Given the description of an element on the screen output the (x, y) to click on. 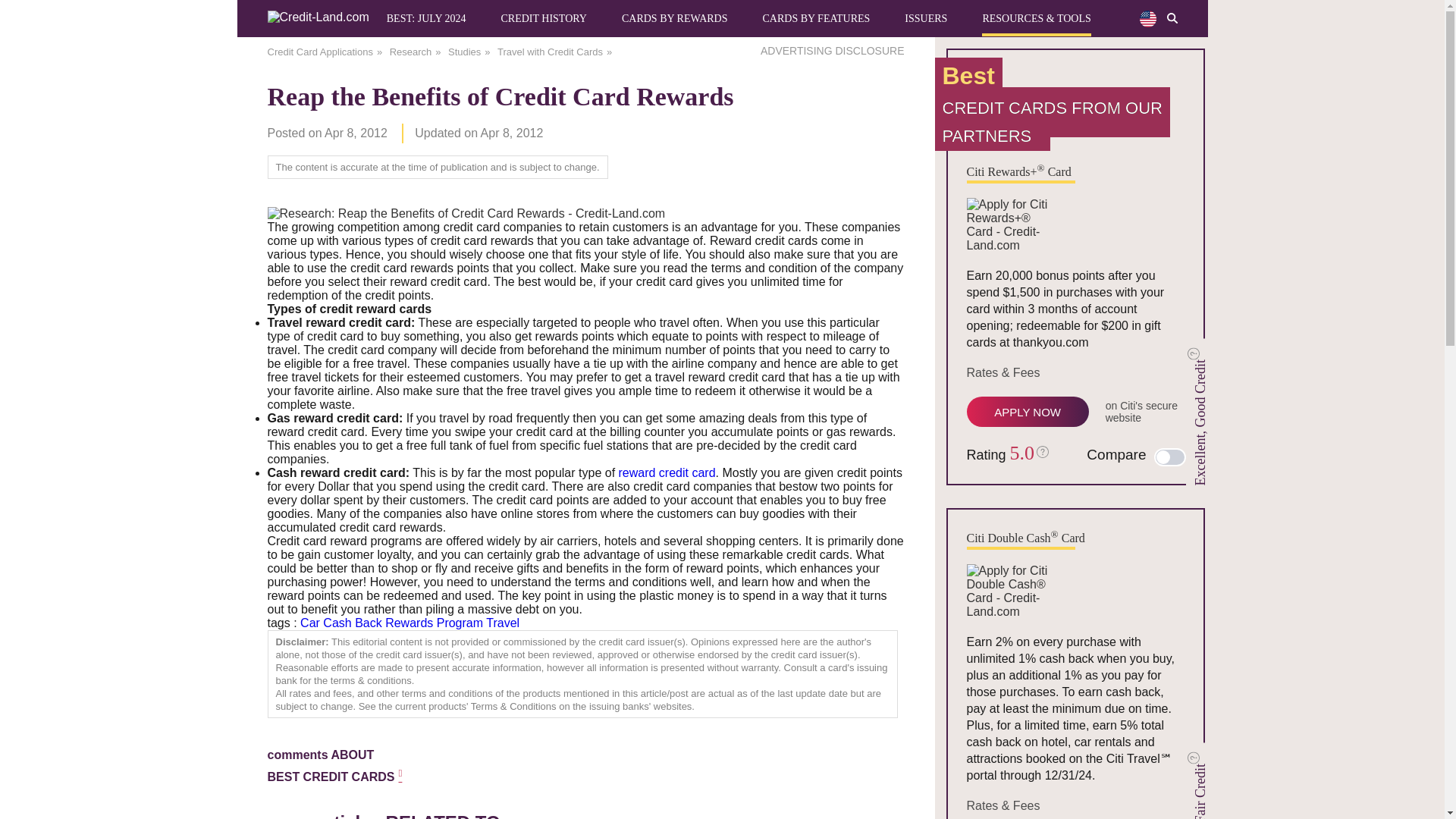
CREDIT HISTORY (543, 18)
CARDS BY REWARDS (674, 18)
CARDS BY FEATURES (815, 18)
BEST: JULY 2024 (426, 18)
